Given the description of an element on the screen output the (x, y) to click on. 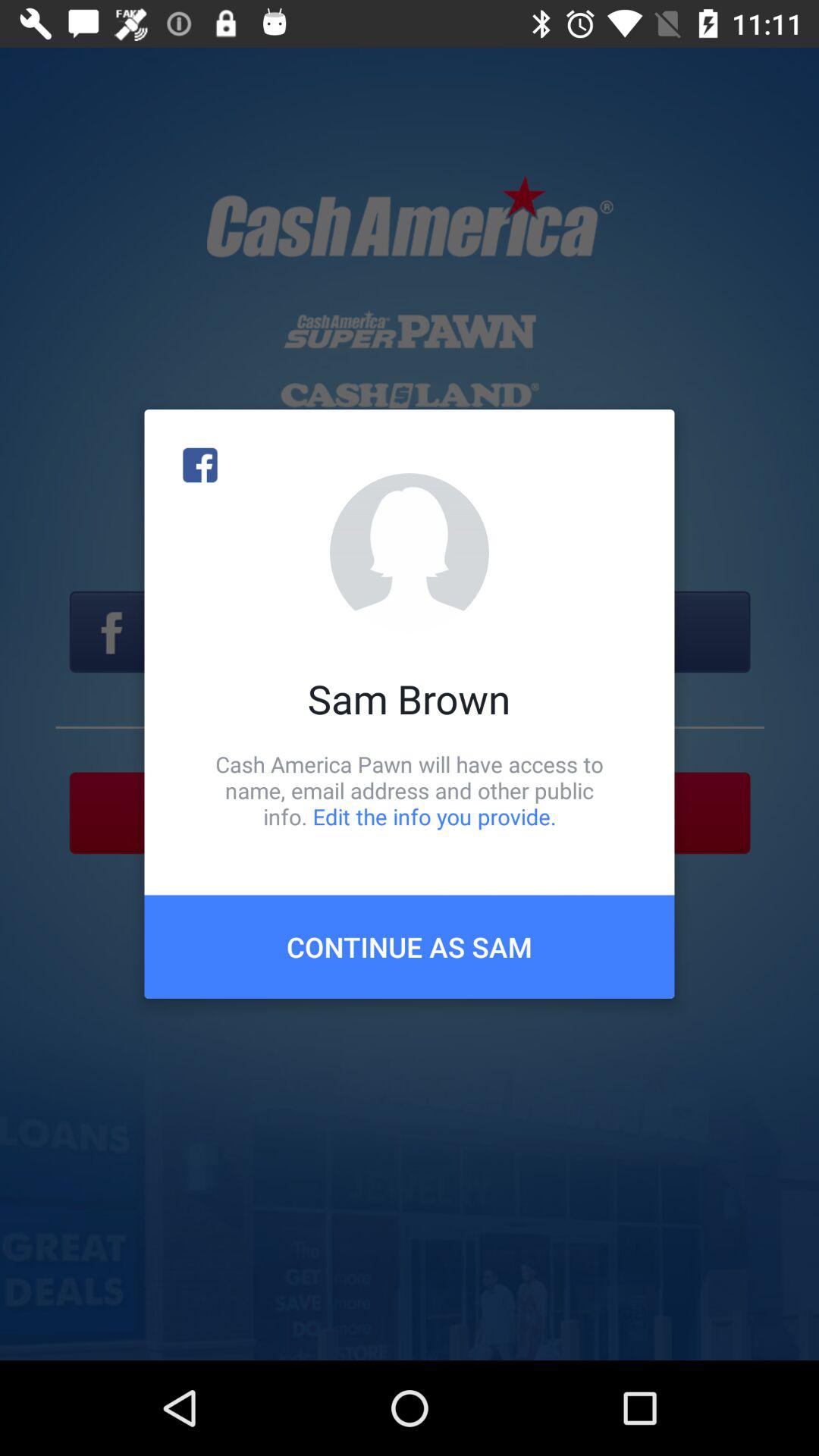
scroll to cash america pawn (409, 790)
